Given the description of an element on the screen output the (x, y) to click on. 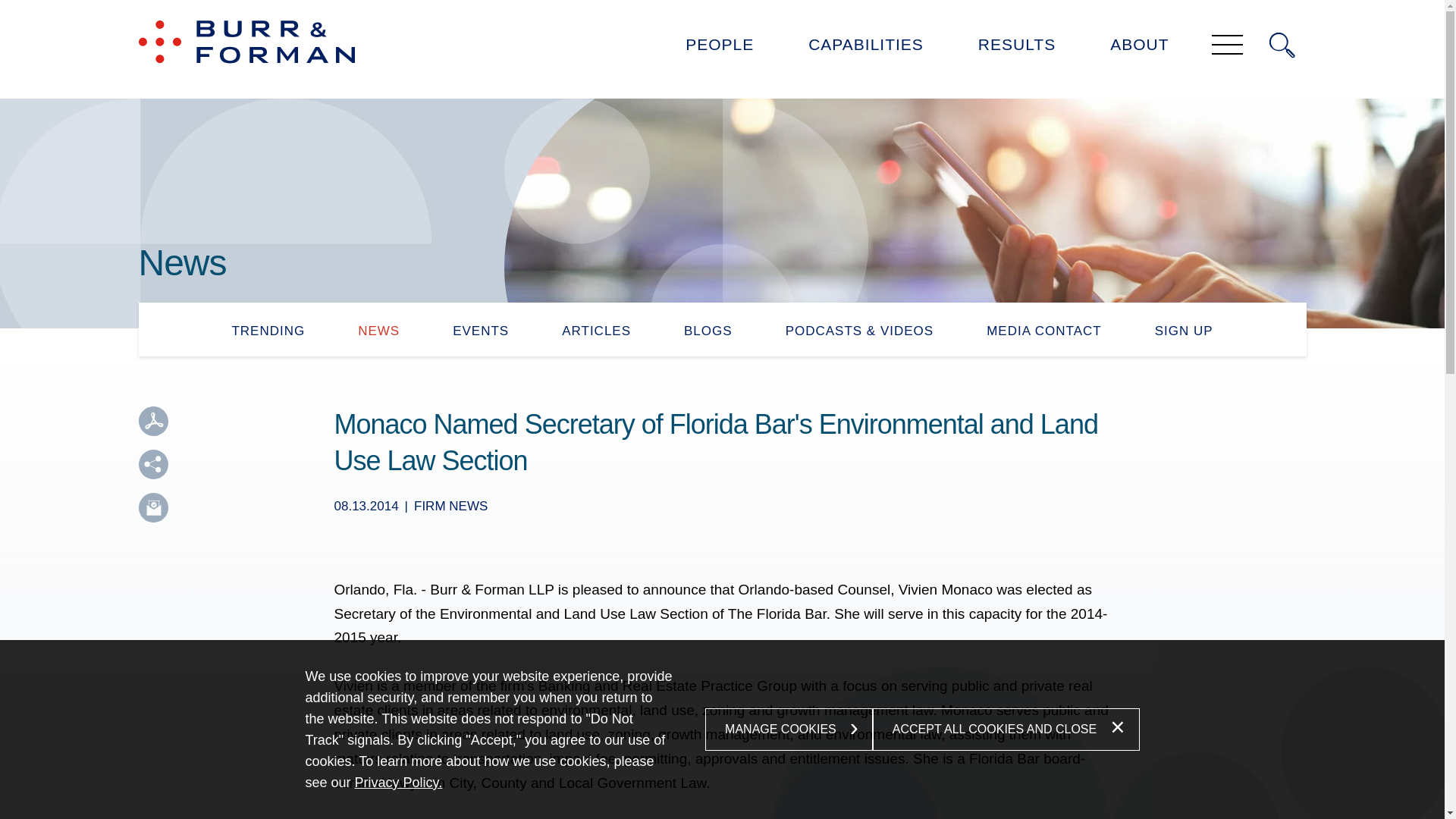
Main Content (674, 17)
Print PDF (152, 420)
CAPABILITIES (865, 48)
Menu (680, 17)
Menu (1227, 45)
RESULTS (1016, 48)
ABOUT (1139, 48)
Search (1282, 45)
Main Menu (680, 17)
Share (152, 464)
